Given the description of an element on the screen output the (x, y) to click on. 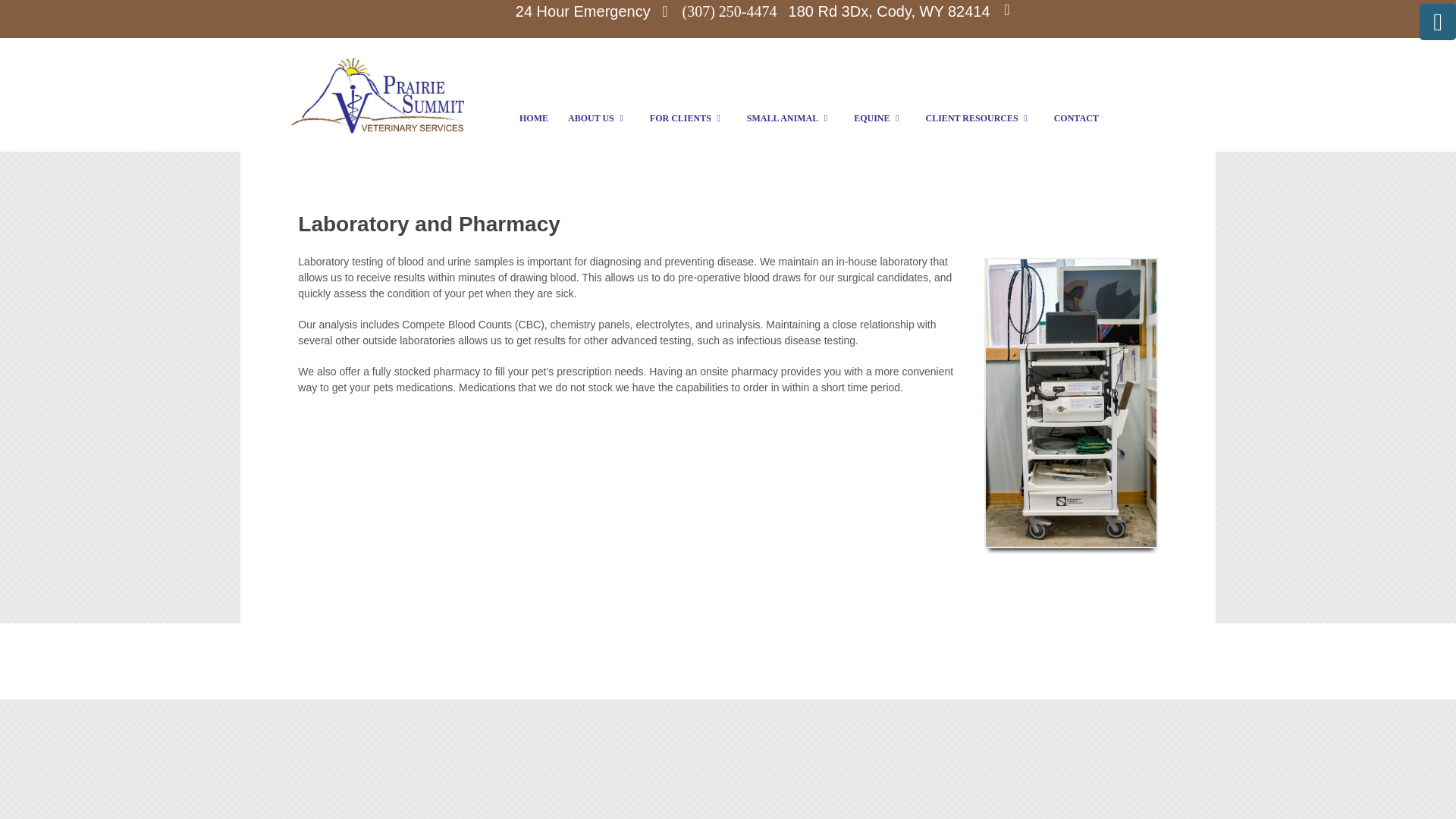
EQUINE (879, 118)
CLIENT RESOURCES (979, 118)
Sitemap (726, 645)
Website by DOCTOR Multimedia (728, 662)
Accessibility (727, 677)
SMALL ANIMAL (790, 118)
ABOUT US (598, 118)
FOR CLIENTS (688, 118)
HOME (533, 118)
CONTACT (1075, 118)
